Given the description of an element on the screen output the (x, y) to click on. 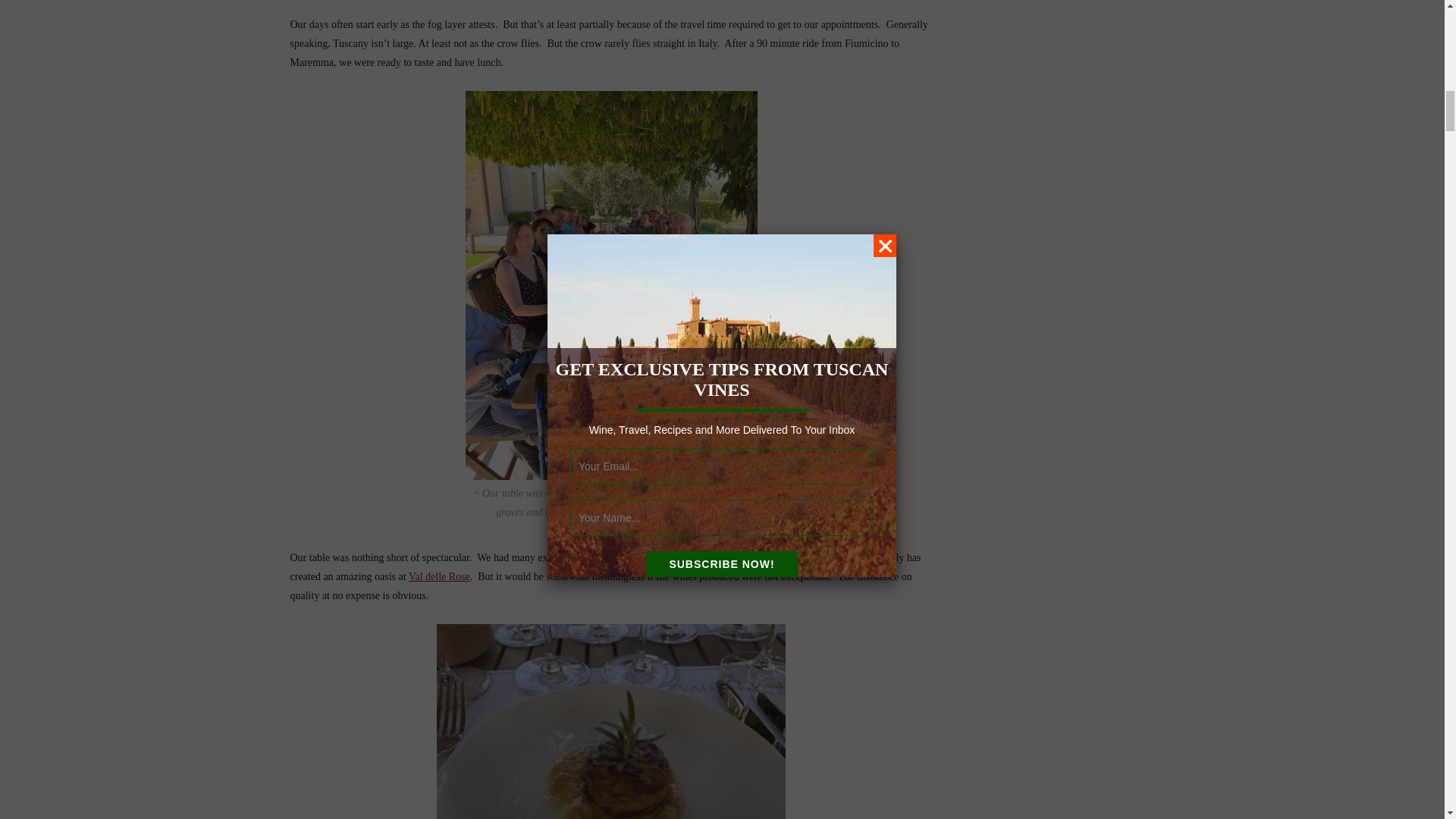
Val delle Rose (439, 576)
